Given the description of an element on the screen output the (x, y) to click on. 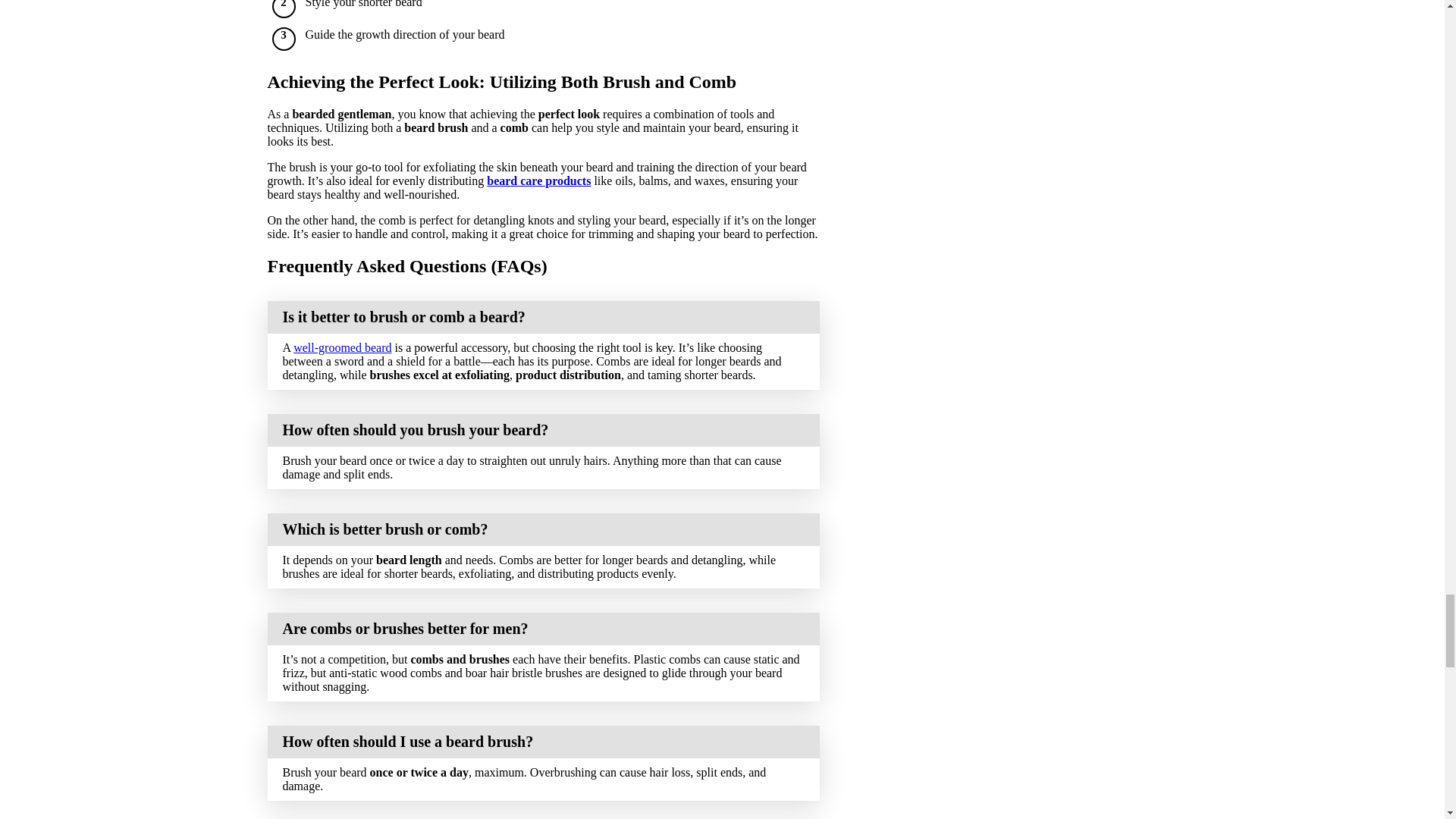
beard care products (538, 180)
well-groomed beard (342, 347)
